Given the description of an element on the screen output the (x, y) to click on. 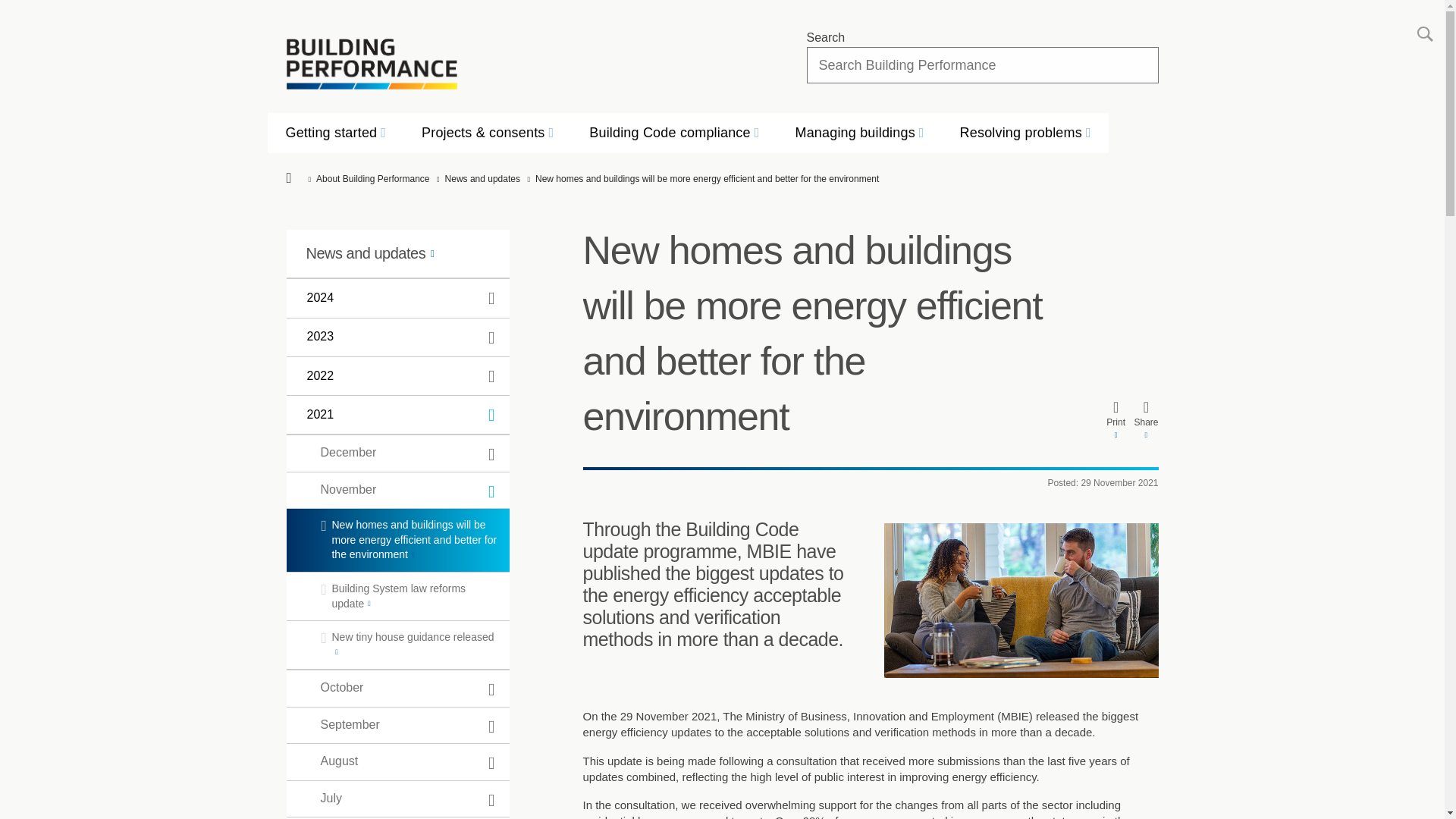
Building Performance (371, 63)
Search (1424, 33)
